Given the description of an element on the screen output the (x, y) to click on. 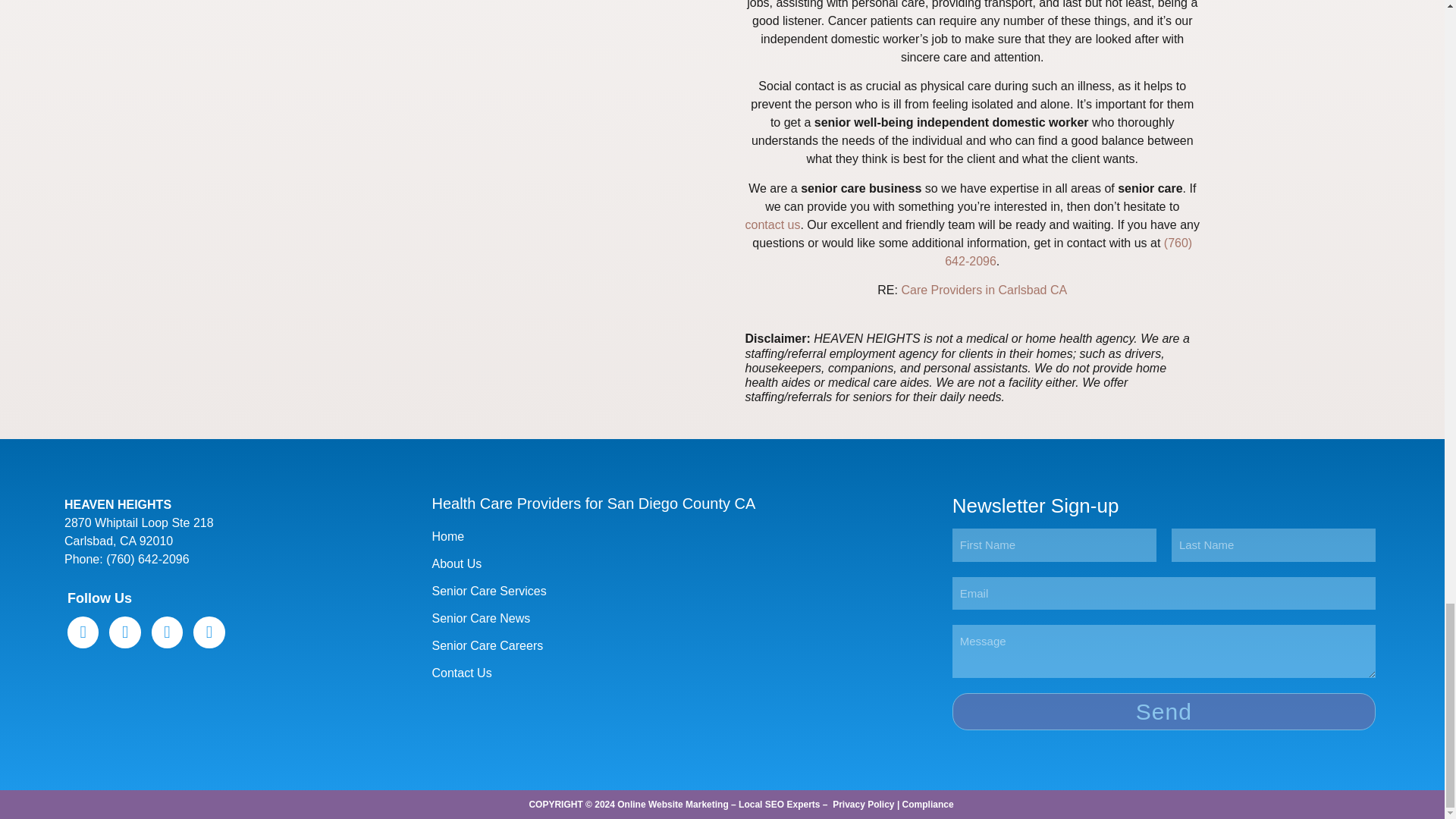
Care Providers in Carlsbad CA (984, 289)
Compliance (927, 804)
Online Website Marketing - Local SEO Experts (718, 804)
Care Providers in Carlsbad CA (984, 289)
contact us (772, 224)
Privacy Policy (862, 804)
